Given the description of an element on the screen output the (x, y) to click on. 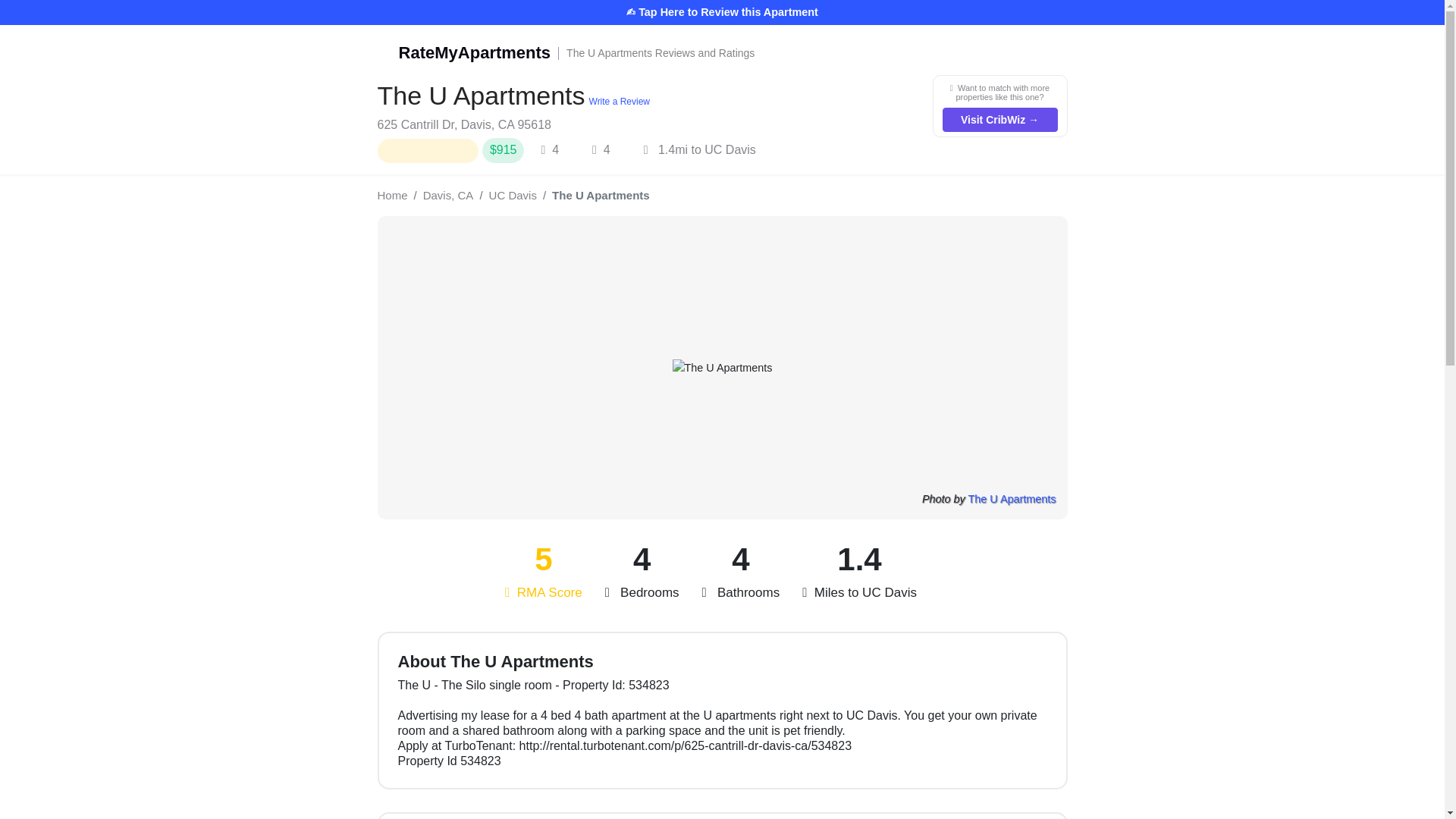
Write a Review (617, 101)
Home (392, 195)
UC Davis (513, 195)
The U Apartments (721, 53)
Davis, CA (1012, 499)
